Given the description of an element on the screen output the (x, y) to click on. 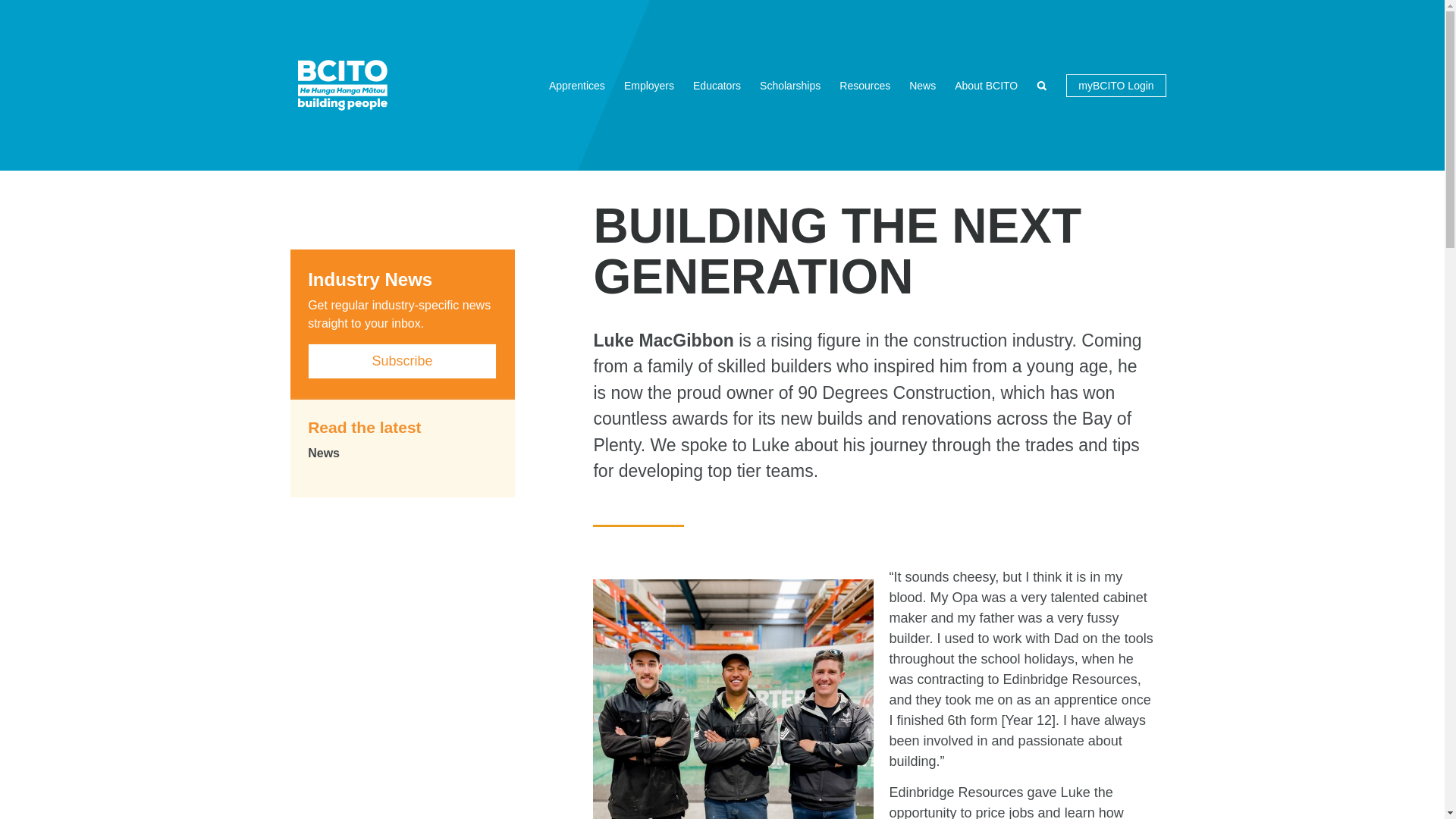
News (401, 452)
Employers (648, 85)
News (922, 85)
myBCITO Login (1115, 85)
Scholarships (790, 85)
Subscribe (401, 361)
About BCITO (986, 85)
Apprentices (576, 85)
Educators (716, 85)
Resources (864, 85)
